Given the description of an element on the screen output the (x, y) to click on. 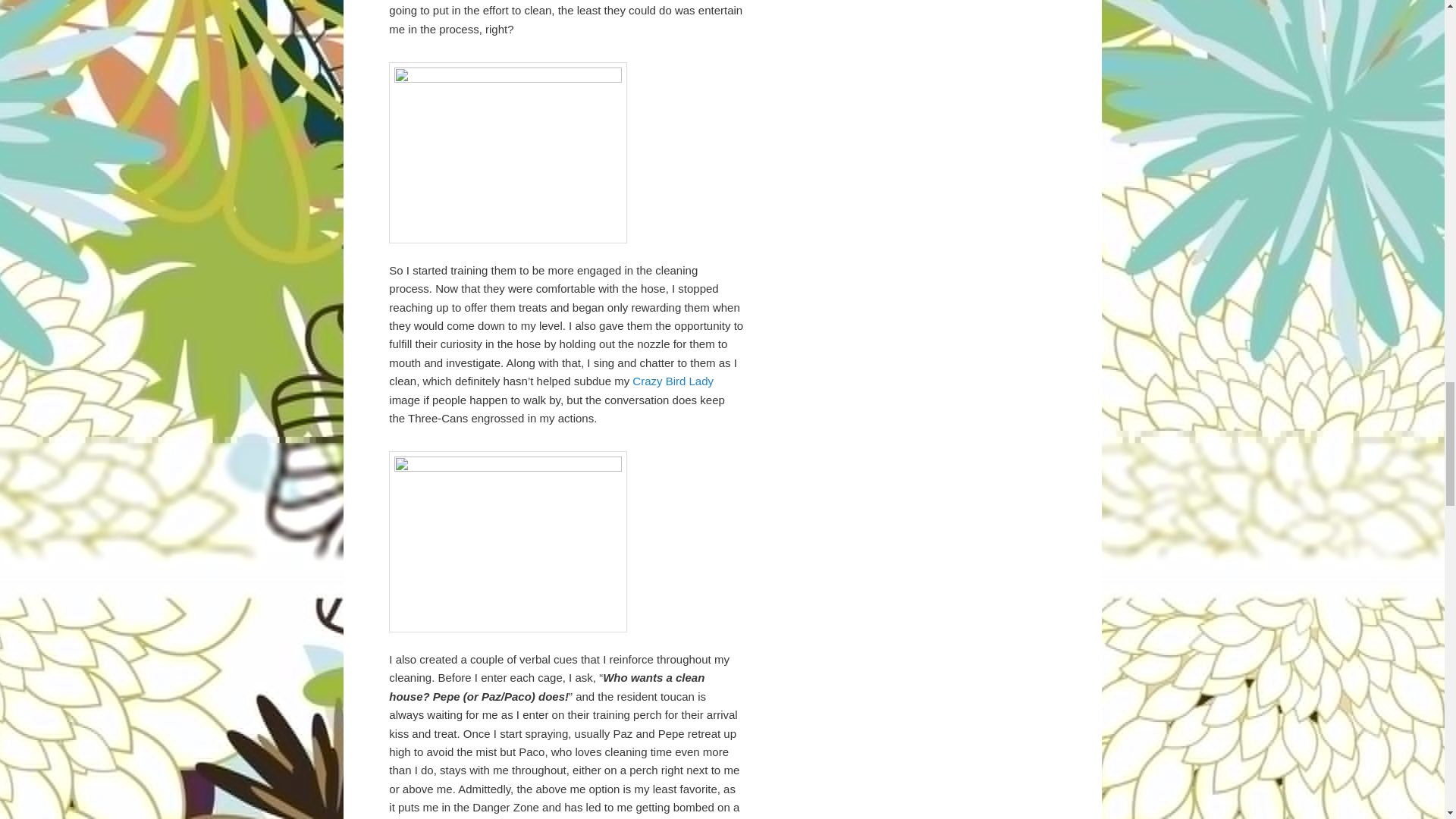
Cleaning time with Paco (507, 152)
Crazy Bird Lady (672, 380)
Cleaning the floor with Paco (507, 541)
Crazy Bird Lady (672, 380)
